Given the description of an element on the screen output the (x, y) to click on. 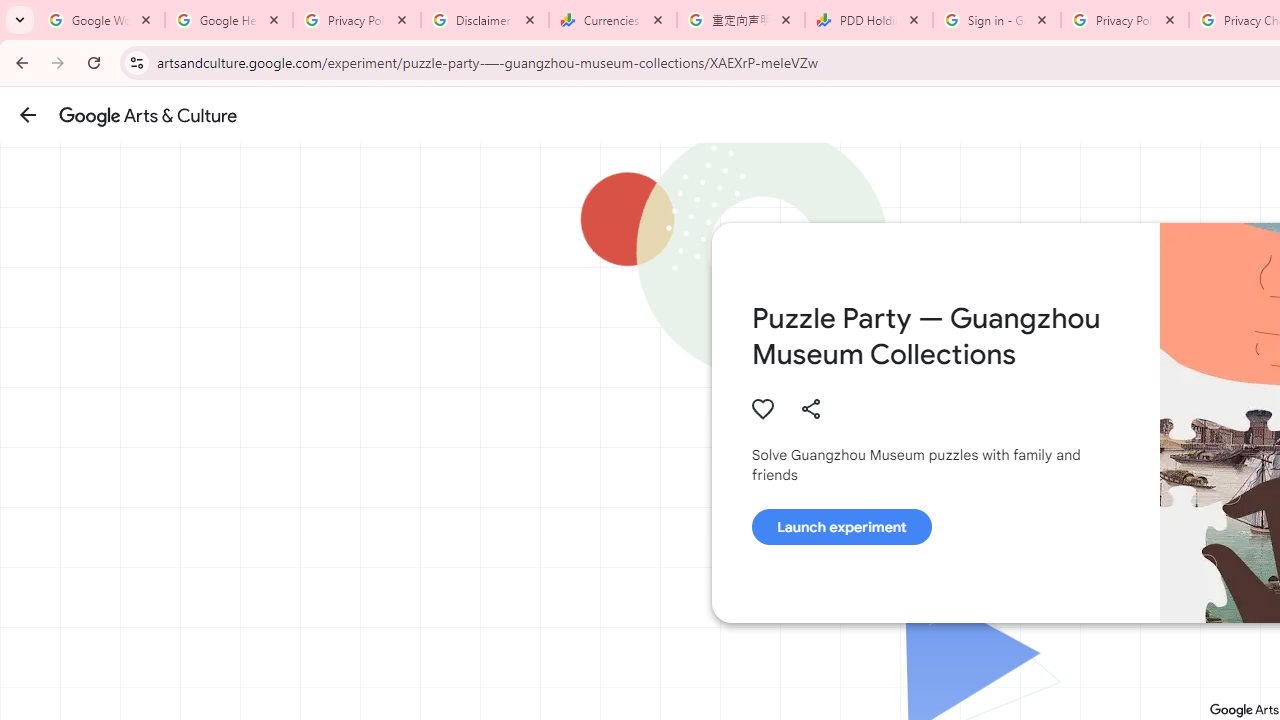
PDD Holdings Inc - ADR (PDD) Price & News - Google Finance (869, 20)
